Given the description of an element on the screen output the (x, y) to click on. 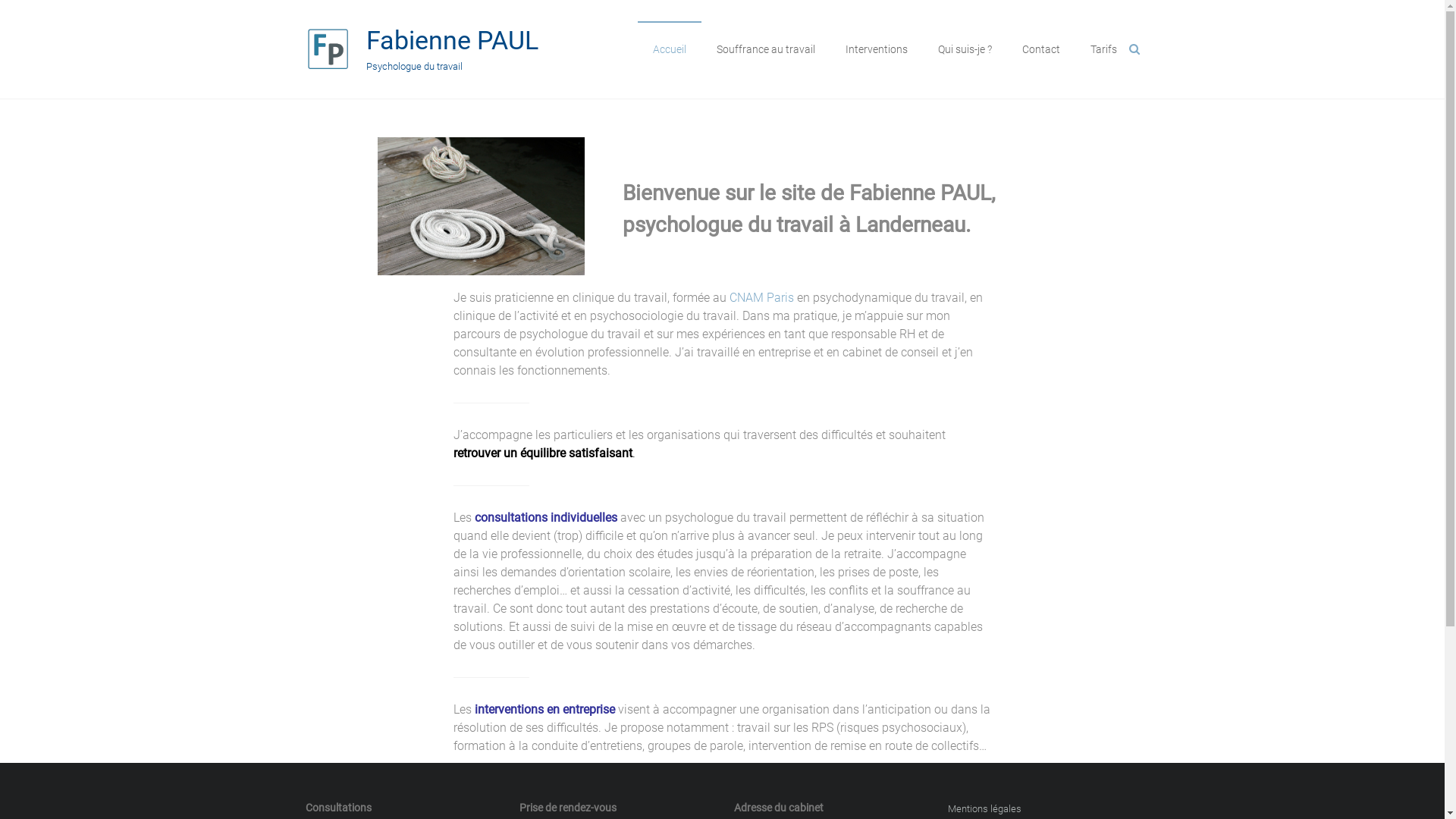
Qui suis-je ? Element type: text (964, 48)
interventions en entreprise Element type: text (544, 709)
CNAM Paris Element type: text (761, 296)
Contact Element type: text (1041, 48)
Tarifs Element type: text (1103, 48)
Souffrance au travail Element type: text (764, 48)
consultations individuelles Element type: text (545, 516)
Fabienne PAUL Element type: text (451, 40)
Accueil Element type: text (668, 48)
Interventions Element type: text (875, 48)
